Given the description of an element on the screen output the (x, y) to click on. 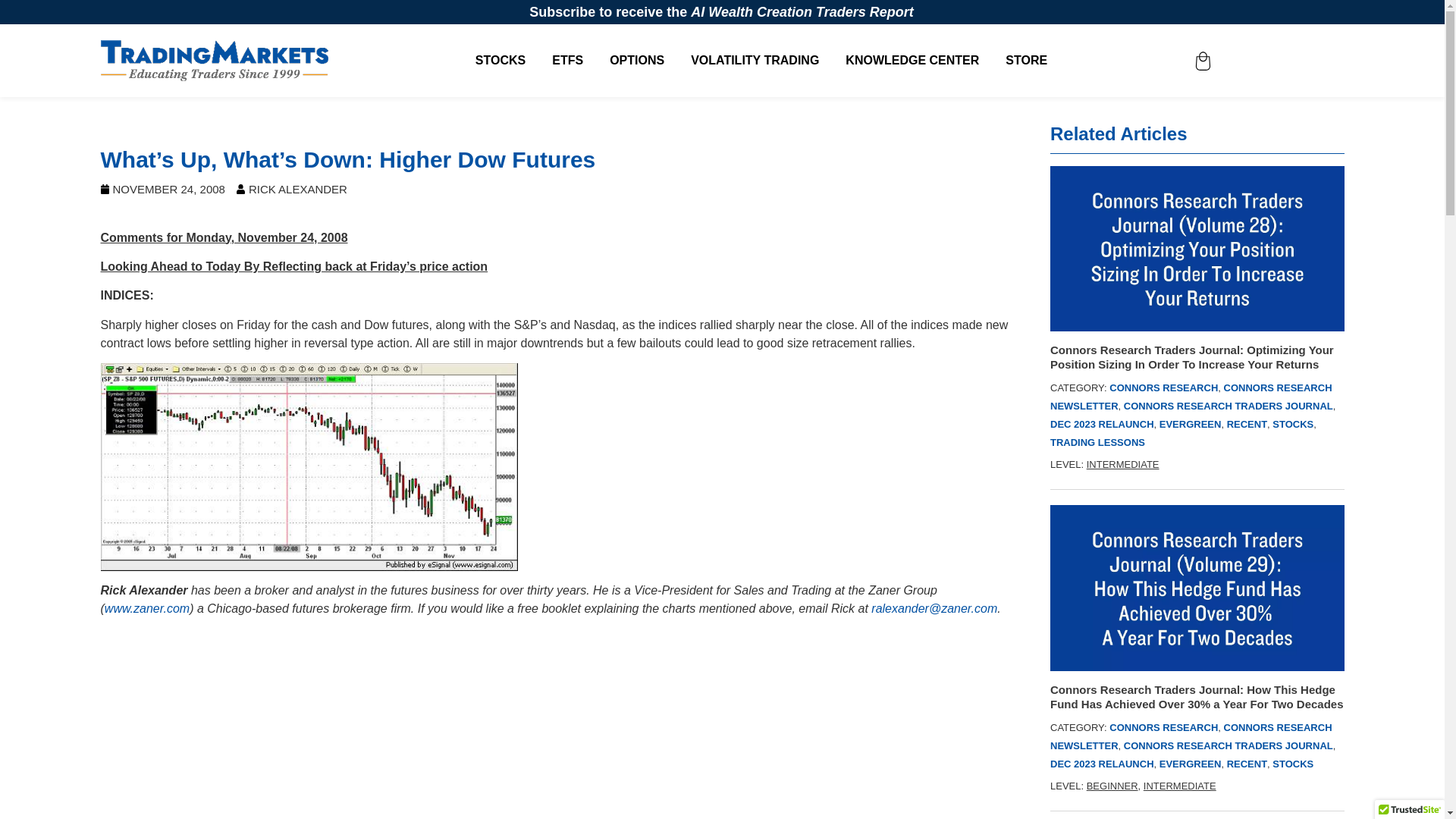
RECENT (1246, 423)
INTERMEDIATE (1122, 464)
CONNORS RESEARCH TRADERS JOURNAL (1228, 405)
CONNORS RESEARCH (1163, 727)
DEC 2023 RELAUNCH (1101, 763)
EVERGREEN (1189, 423)
CONNORS RESEARCH NEWSLETTER (1190, 736)
STOCKS (1292, 423)
Subscribe to receive the AI Wealth Creation Traders Report (722, 11)
VOLATILITY TRADING (754, 60)
CONNORS RESEARCH (1163, 387)
CONNORS RESEARCH TRADERS JOURNAL (1228, 745)
KNOWLEDGE CENTER (911, 60)
TRADING LESSONS (1096, 441)
